Given the description of an element on the screen output the (x, y) to click on. 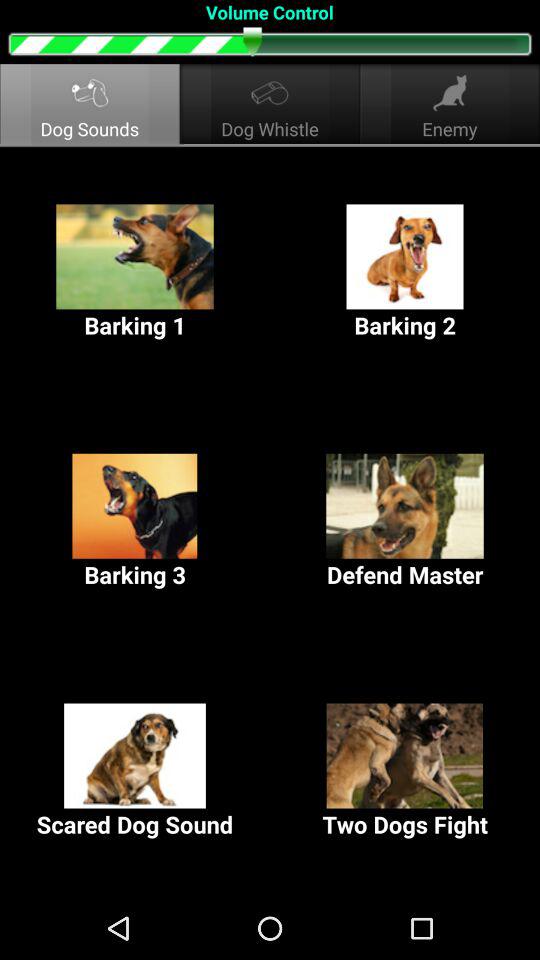
tap the barking 2 item (405, 272)
